Given the description of an element on the screen output the (x, y) to click on. 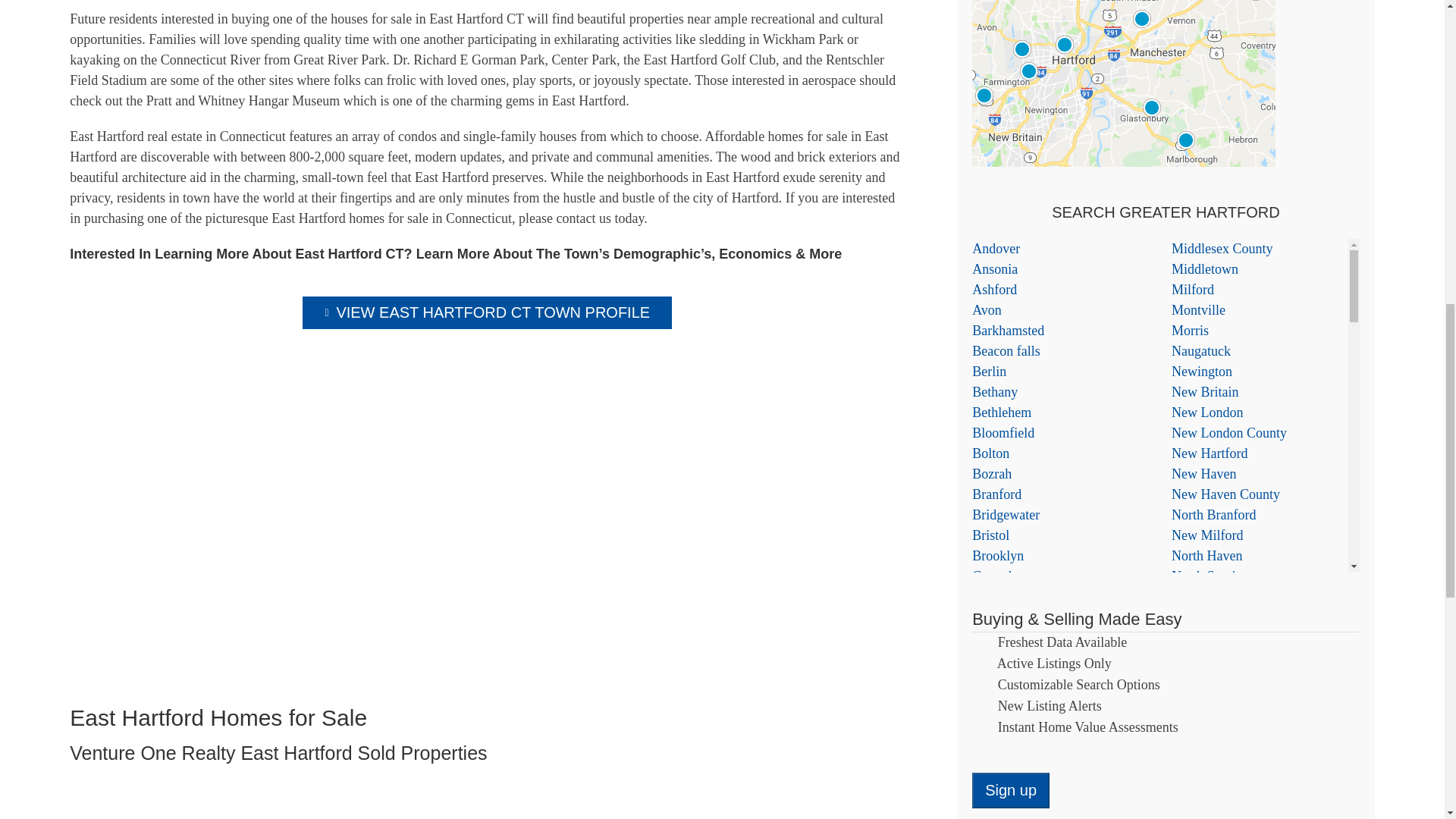
VIEW EAST HARTFORD CT TOWN PROFILE (486, 312)
